Given the description of an element on the screen output the (x, y) to click on. 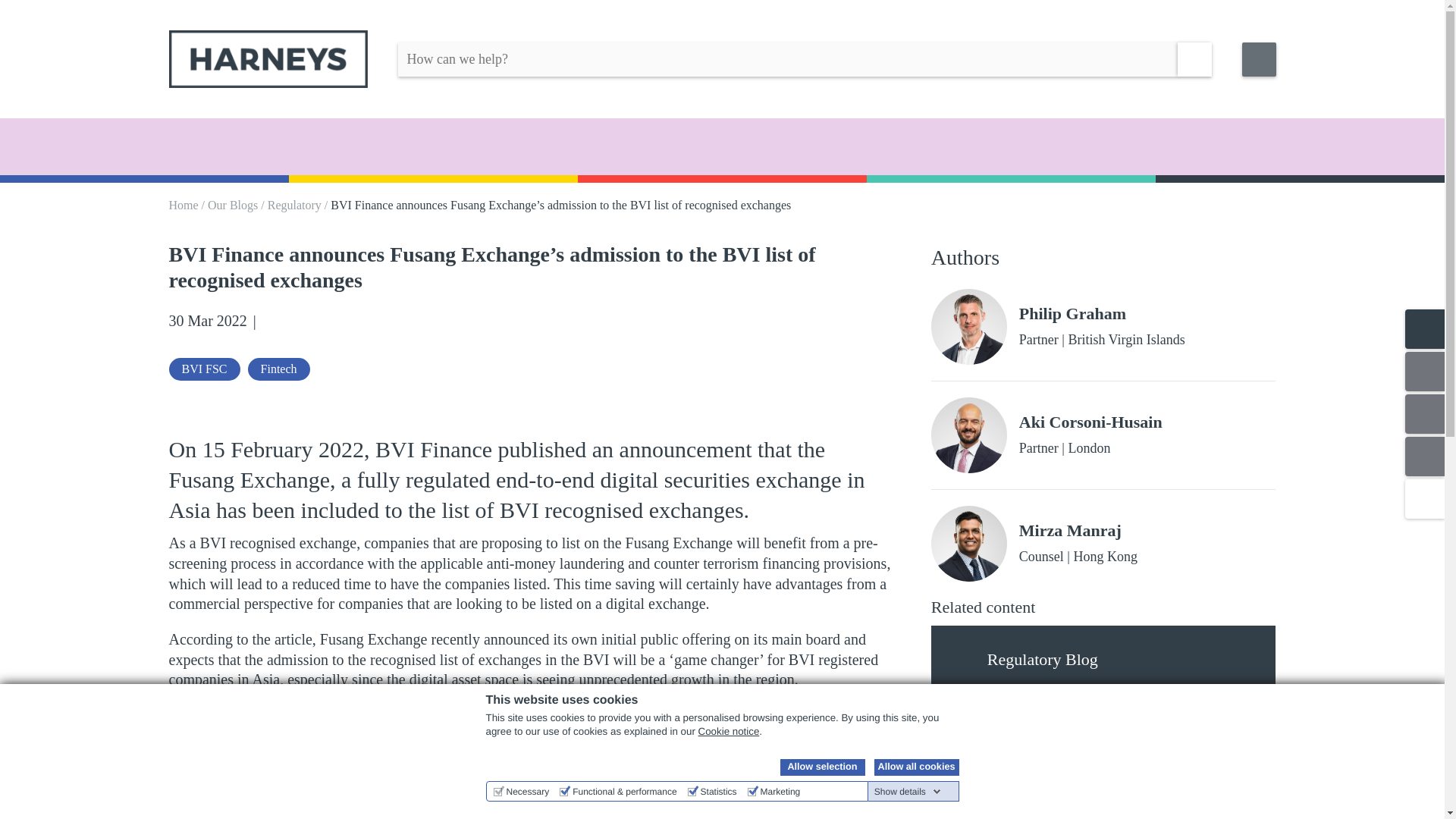
blogs (967, 662)
Rss (343, 321)
X (295, 321)
Show details (906, 791)
blogs (967, 808)
Cookie notice (729, 731)
Allow selection (821, 767)
Mail (320, 321)
LinkedIn (271, 321)
Allow all cookies (915, 767)
Print (392, 321)
